Given the description of an element on the screen output the (x, y) to click on. 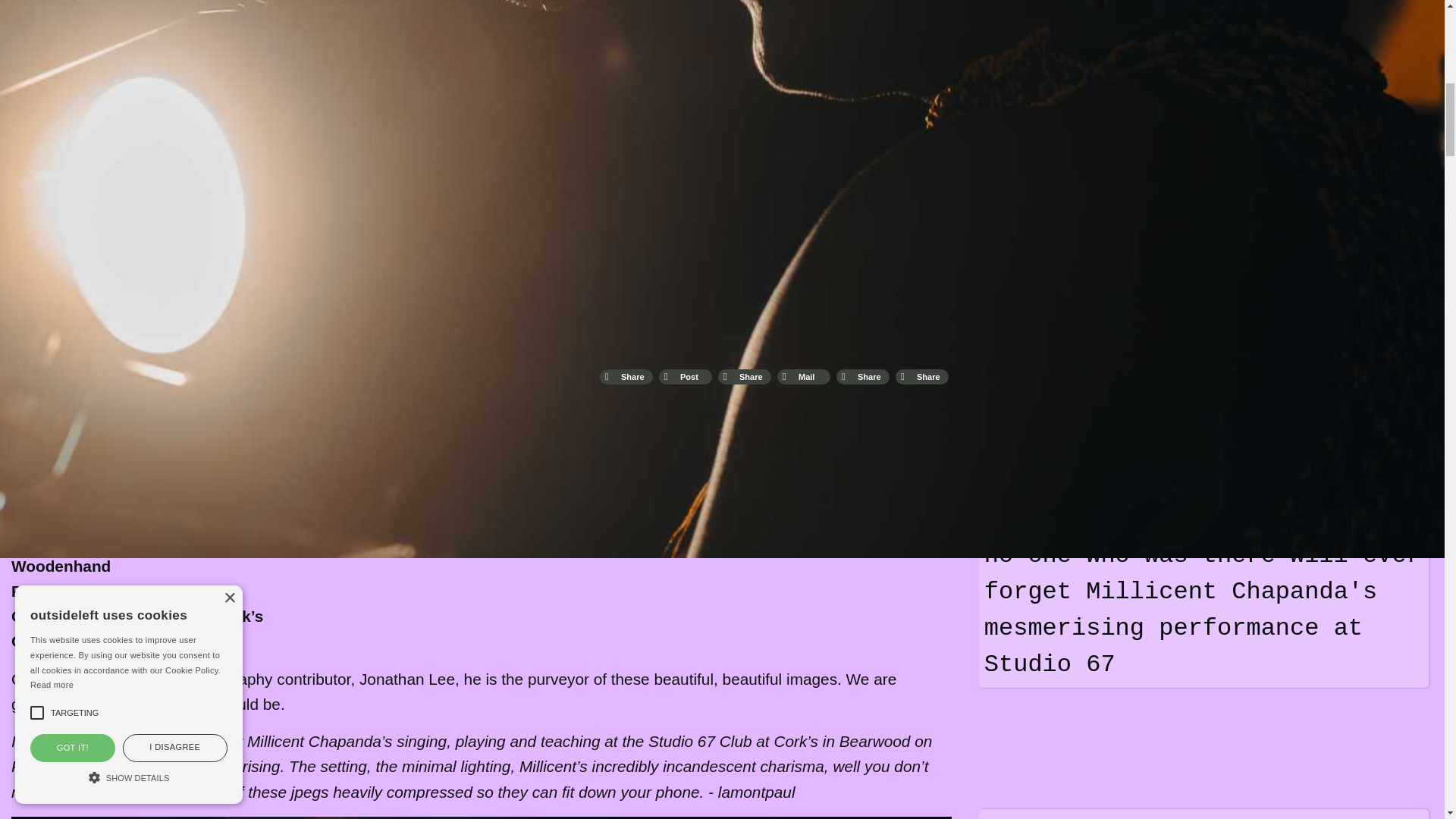
SMS (862, 376)
WhatsApp (744, 376)
More Options (922, 376)
Facebook (626, 376)
Email This (803, 376)
